Given the description of an element on the screen output the (x, y) to click on. 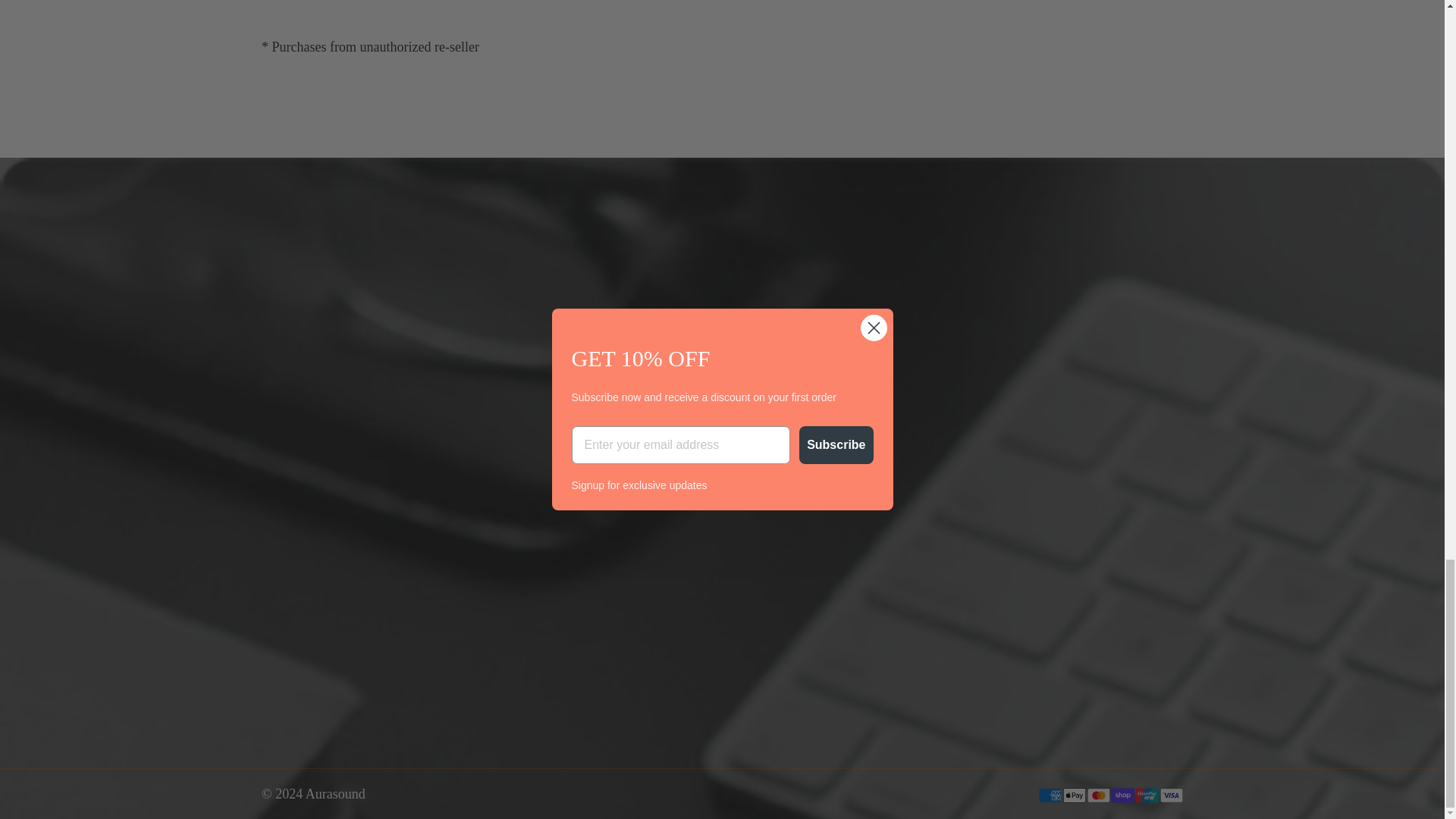
Shop Pay (1123, 795)
Visa (1171, 795)
Union Pay (1146, 795)
American Express (1050, 795)
Mastercard (1098, 795)
Apple Pay (1074, 795)
